Given the description of an element on the screen output the (x, y) to click on. 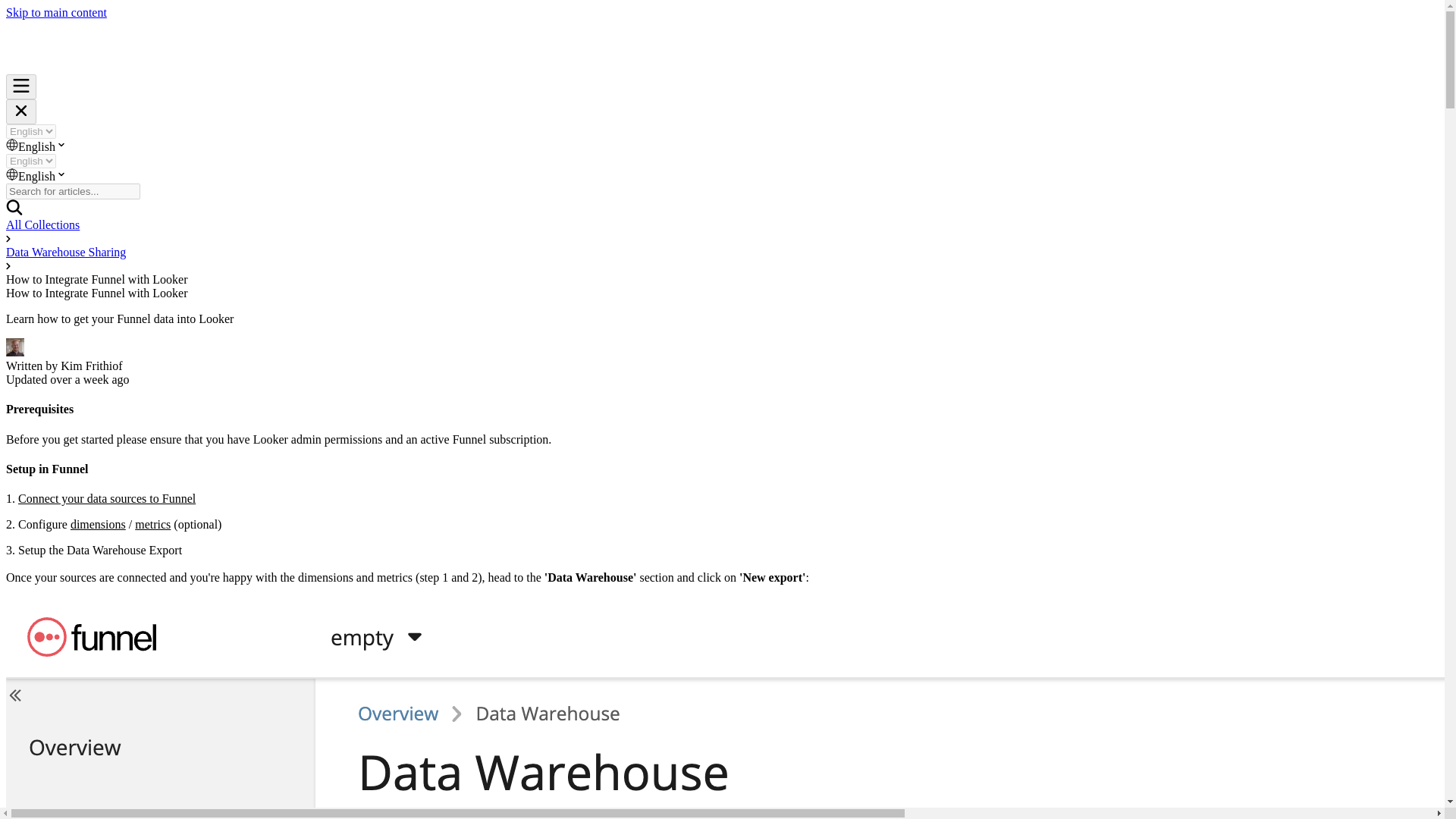
metrics (152, 523)
dimensions (97, 523)
Connect your data sources to Funnel (106, 498)
All Collections (42, 224)
Data Warehouse Sharing (65, 251)
Skip to main content (55, 11)
